Given the description of an element on the screen output the (x, y) to click on. 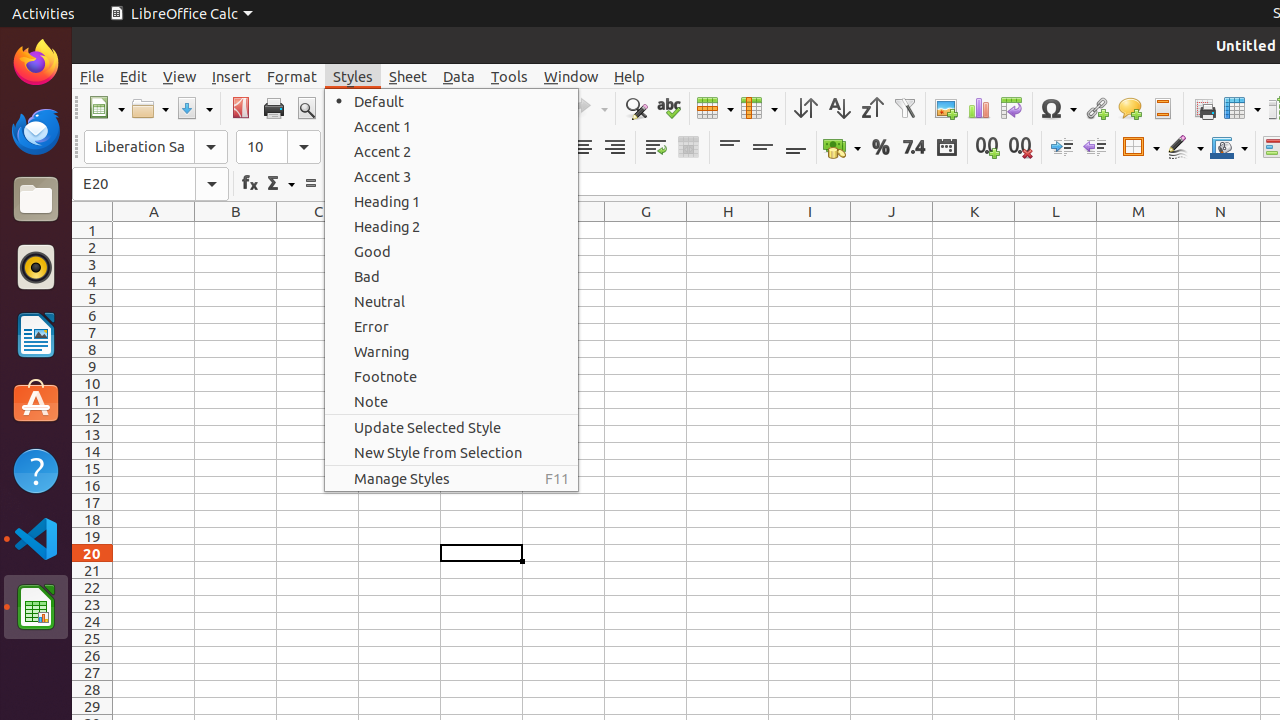
Accent 3 Element type: radio-menu-item (451, 176)
Image Element type: push-button (945, 108)
Rhythmbox Element type: push-button (36, 267)
B1 Element type: table-cell (236, 230)
Name Box Element type: combo-box (150, 184)
